Given the description of an element on the screen output the (x, y) to click on. 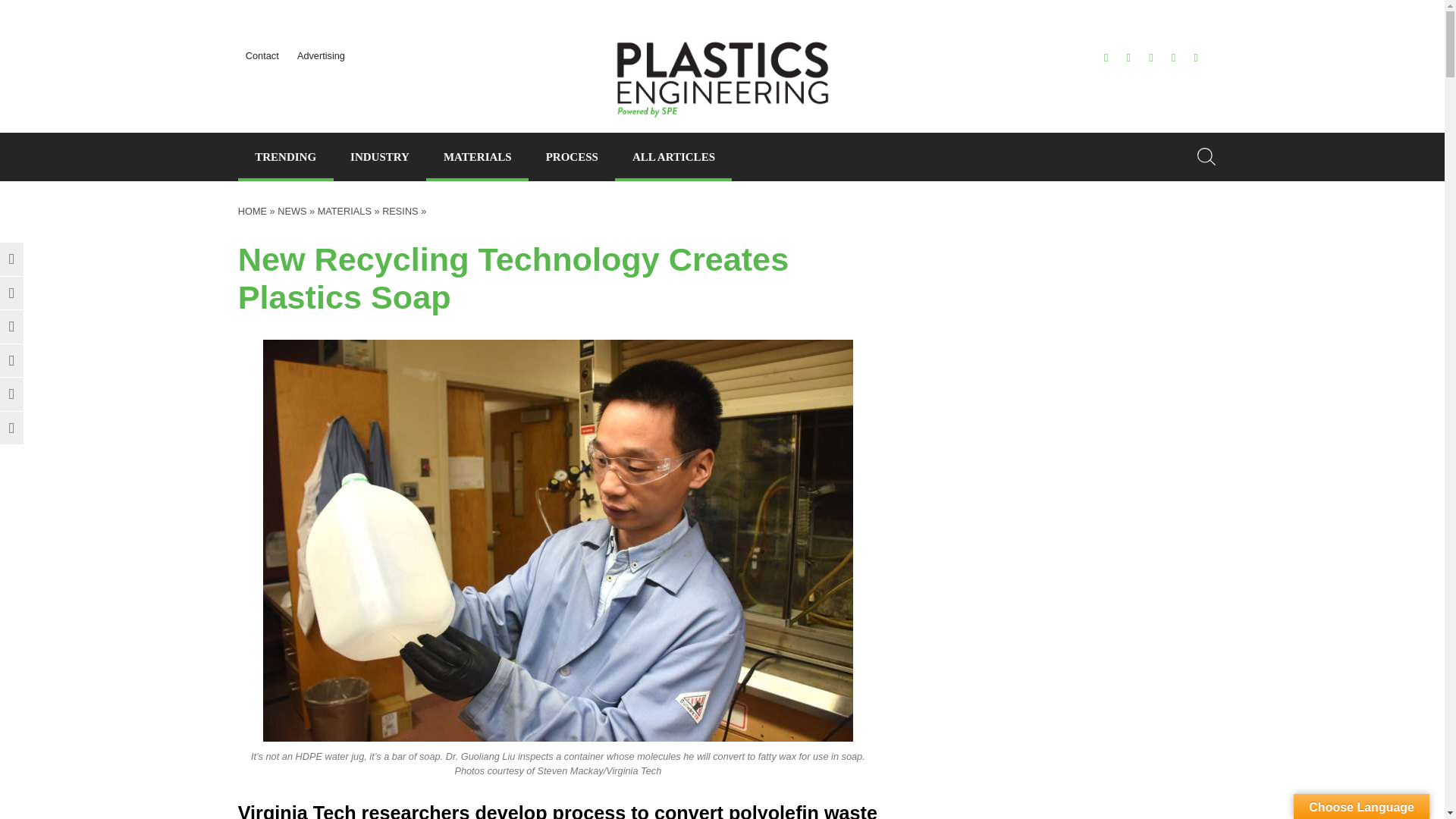
Linkedin (11, 326)
Contact (262, 55)
Envoyer par mail (11, 394)
TRENDING (285, 156)
Youtube (1195, 57)
Reddit (11, 360)
Instagram (1173, 57)
Linkedin (1150, 57)
X (1105, 57)
PROCESS (571, 156)
Twitter (11, 259)
Facebook (11, 292)
MATERIALS (477, 156)
Advertising (321, 55)
Facebook (1128, 57)
